Given the description of an element on the screen output the (x, y) to click on. 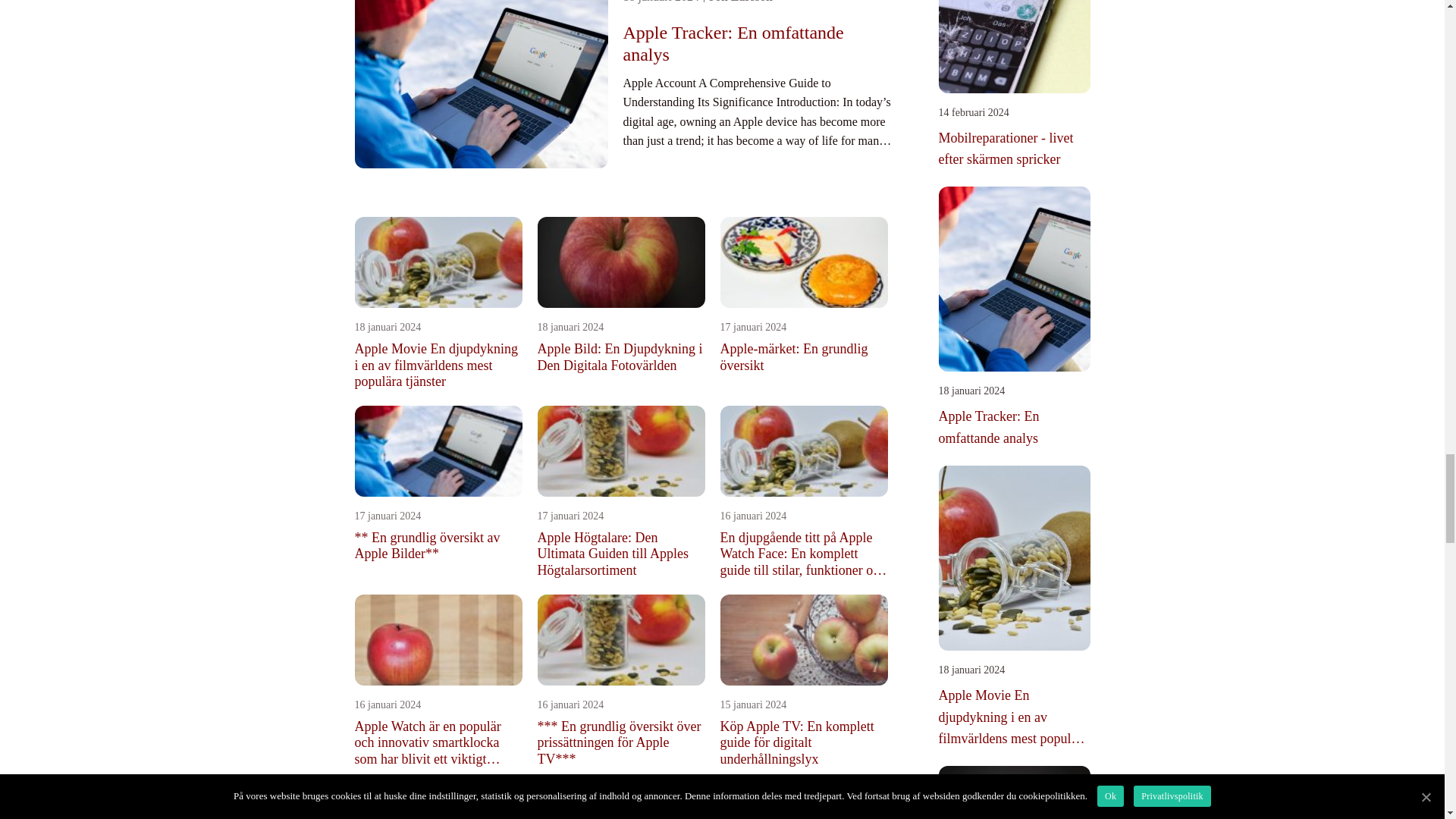
Apple Tracker: En omfattande analys (757, 44)
